Given the description of an element on the screen output the (x, y) to click on. 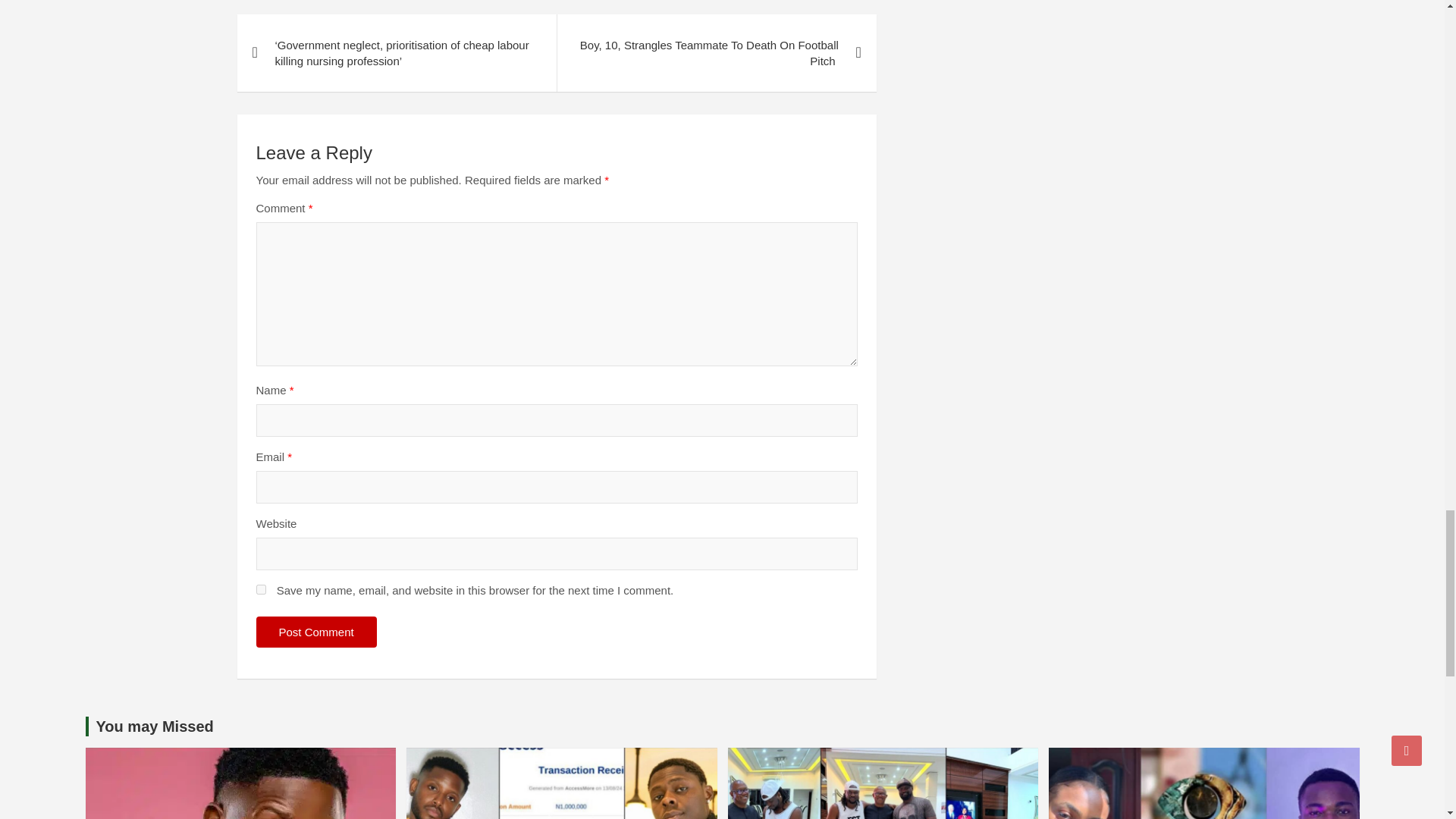
Post Comment (316, 631)
yes (261, 589)
Post Comment (316, 631)
Boy, 10, Strangles Teammate To Death On Football Pitch  (716, 52)
